Given the description of an element on the screen output the (x, y) to click on. 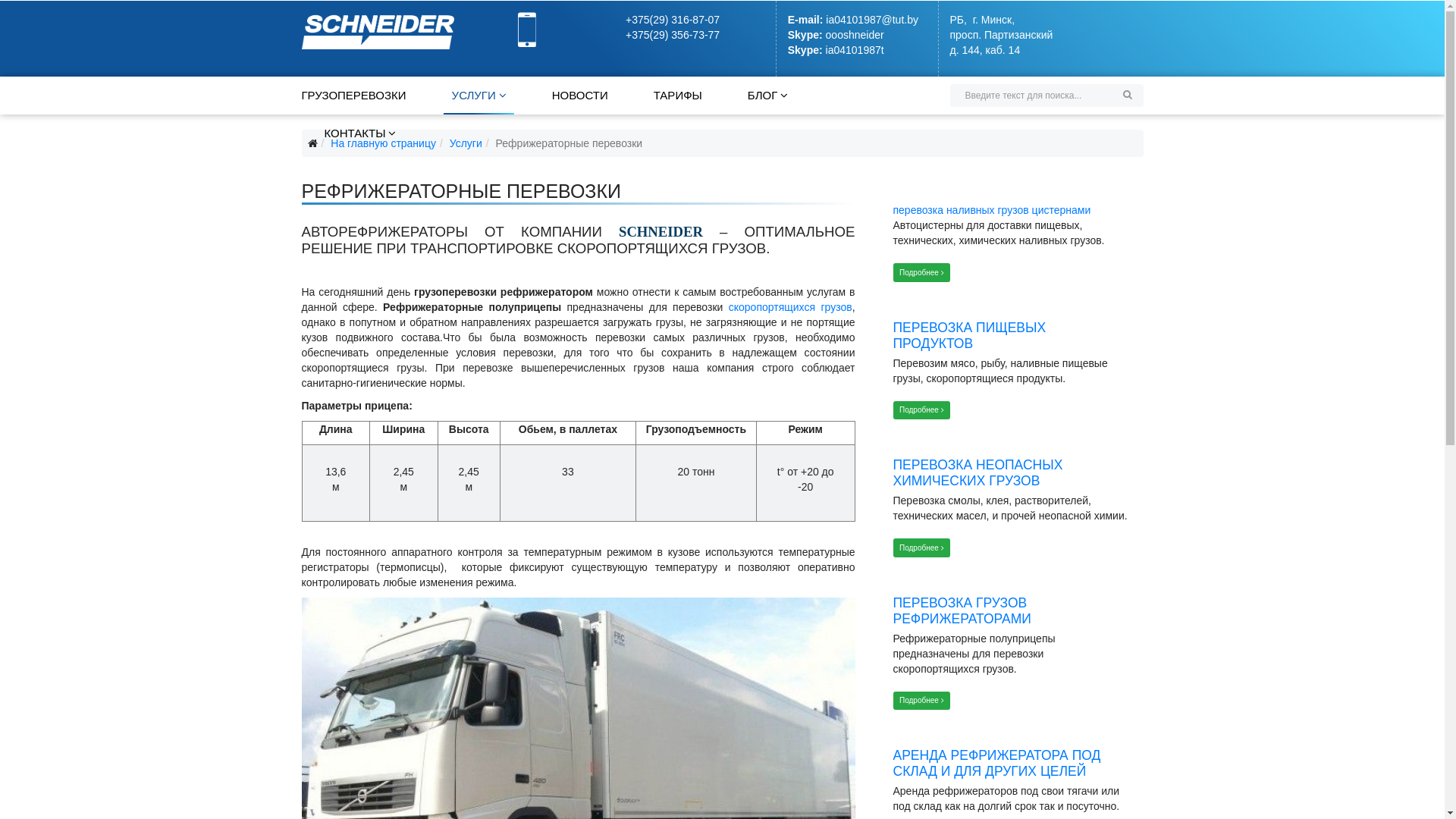
+375(29) 316-87-07 Element type: text (672, 19)
+375(29) 356-73-77 Element type: text (672, 34)
